Given the description of an element on the screen output the (x, y) to click on. 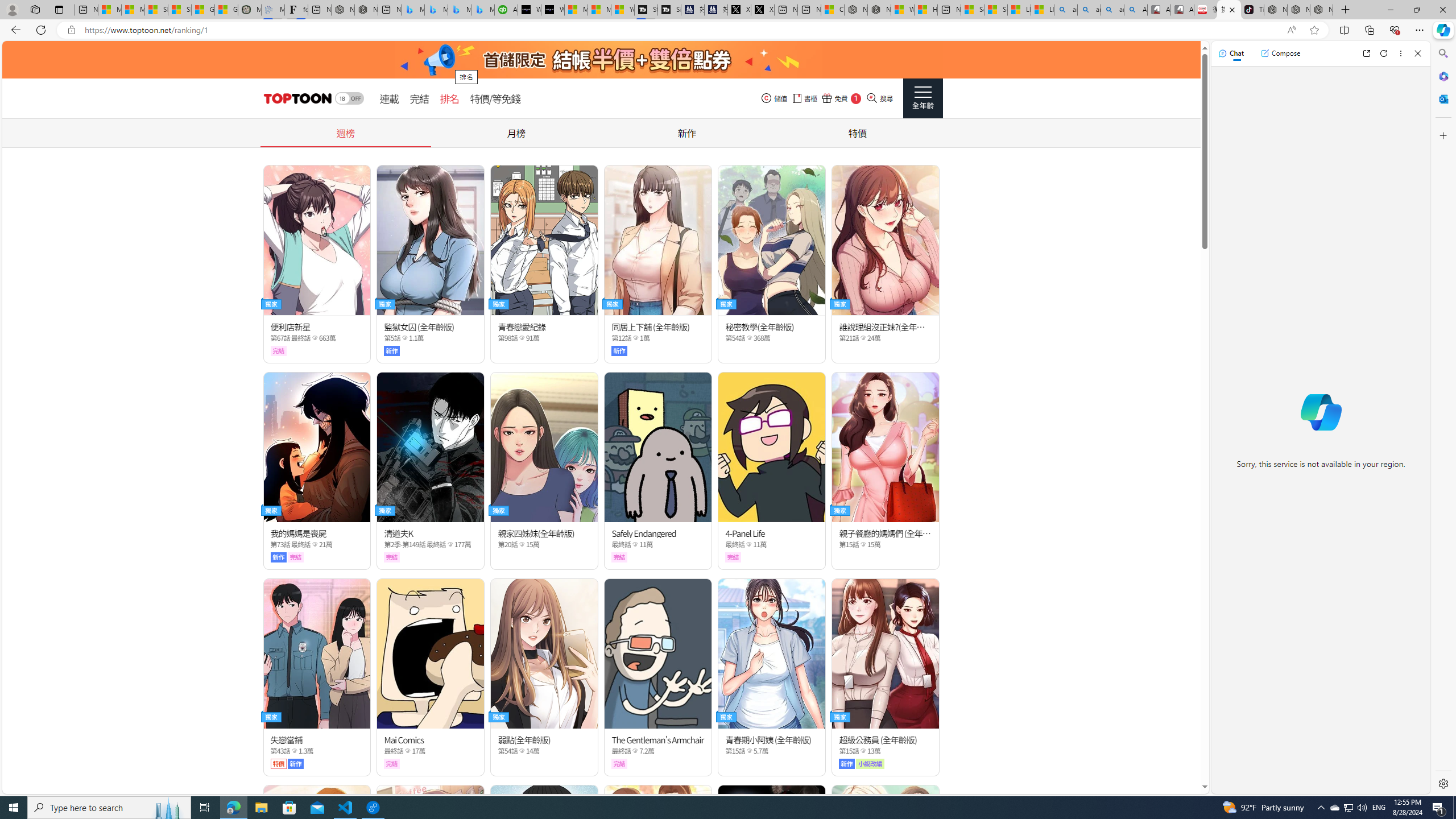
TikTok (1252, 9)
Settings (1442, 783)
Compose (1280, 52)
Class: side_menu_btn actionRightMenuBtn (922, 97)
